Given the description of an element on the screen output the (x, y) to click on. 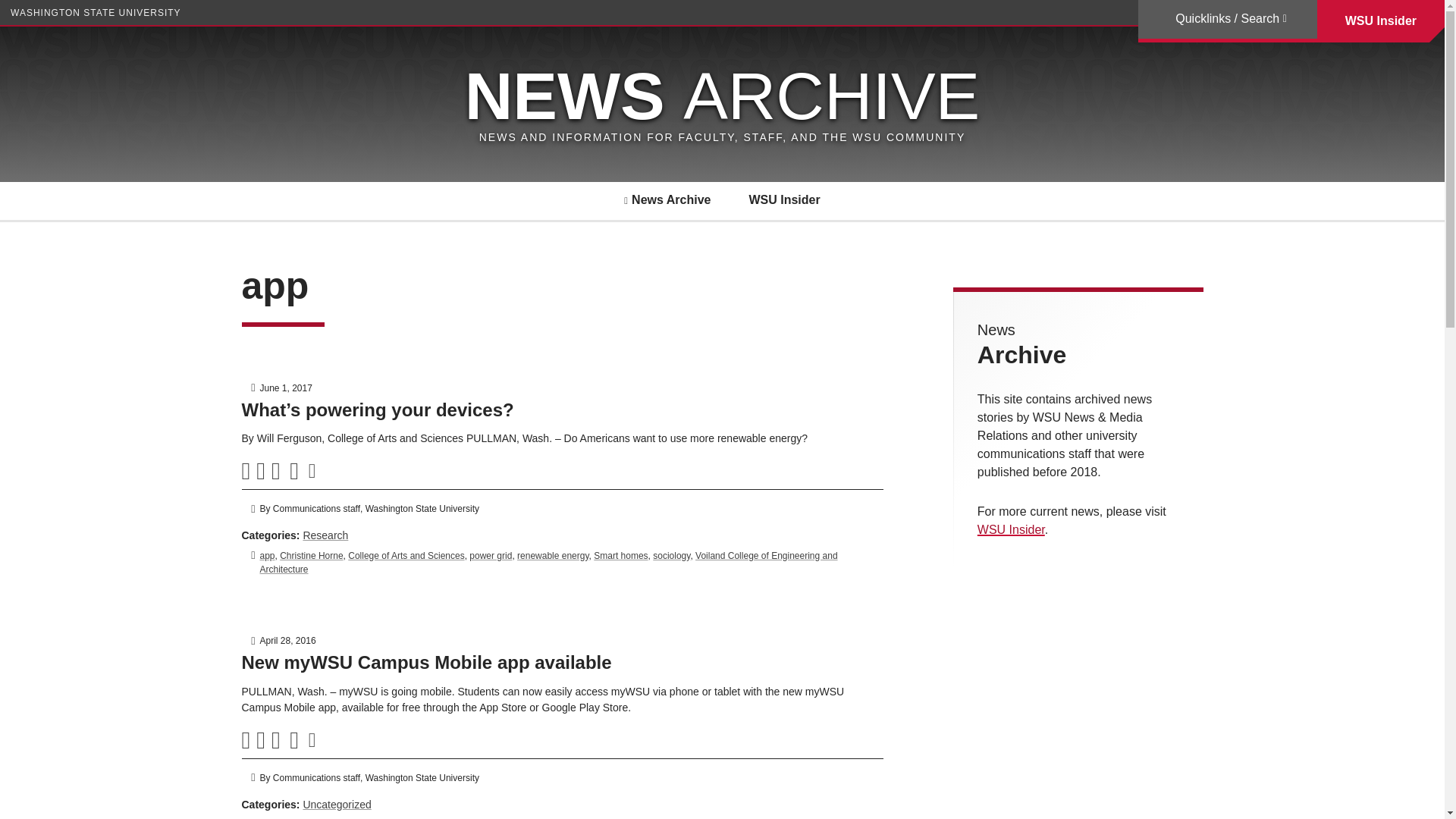
WSU Insider (783, 200)
Research (324, 535)
power grid (490, 555)
Smart homes (620, 555)
renewable energy (552, 555)
sociology (671, 555)
WASHINGTON STATE UNIVERSITY (96, 12)
Voiland College of Engineering and Architecture (548, 562)
College of Arts and Sciences (405, 555)
News Archive (667, 200)
New myWSU Campus Mobile app available (426, 661)
app (267, 555)
Christine Horne (310, 555)
